Given the description of an element on the screen output the (x, y) to click on. 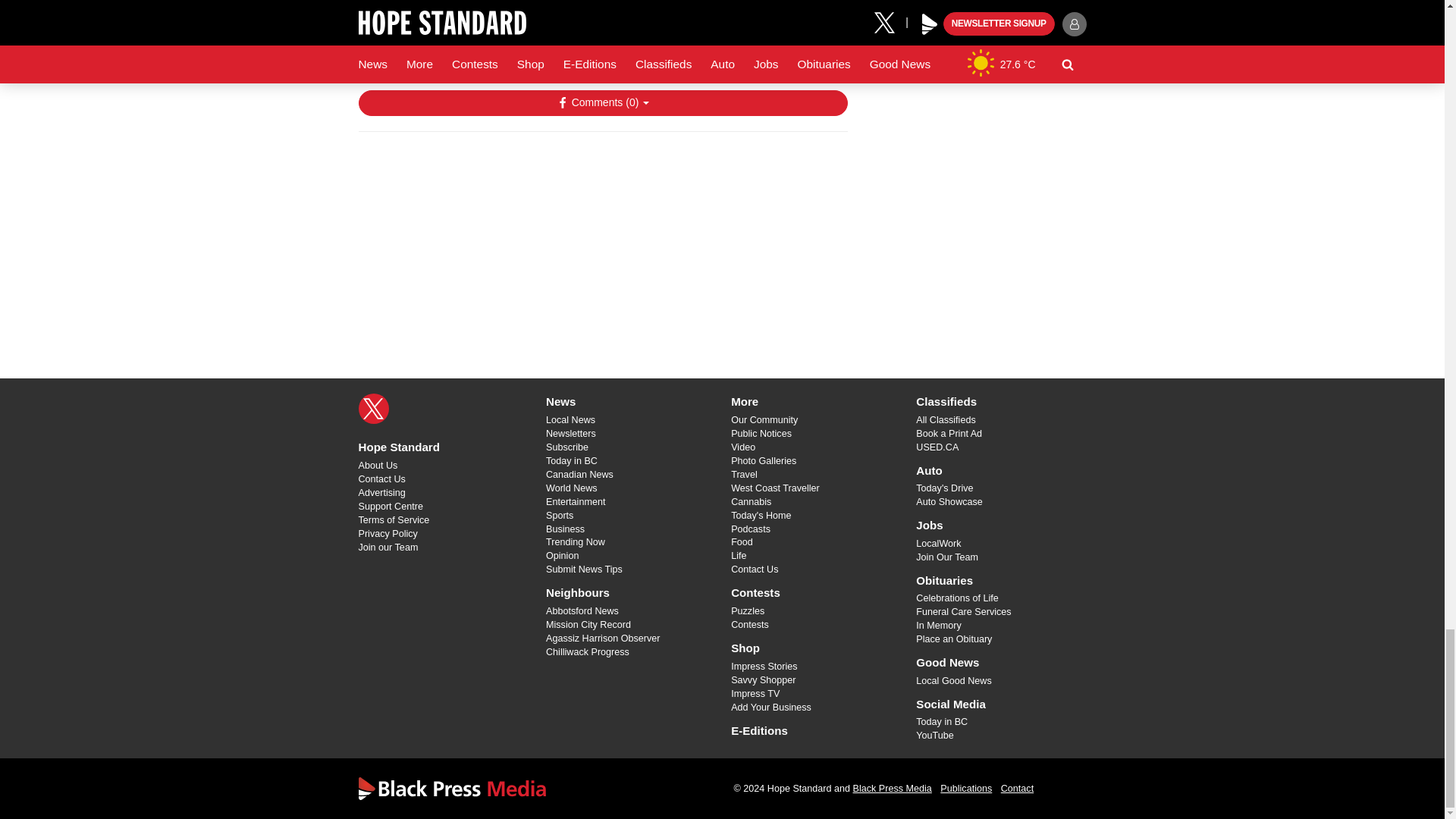
X (373, 408)
3rd party ad content (602, 241)
Show Comments (602, 103)
